Given the description of an element on the screen output the (x, y) to click on. 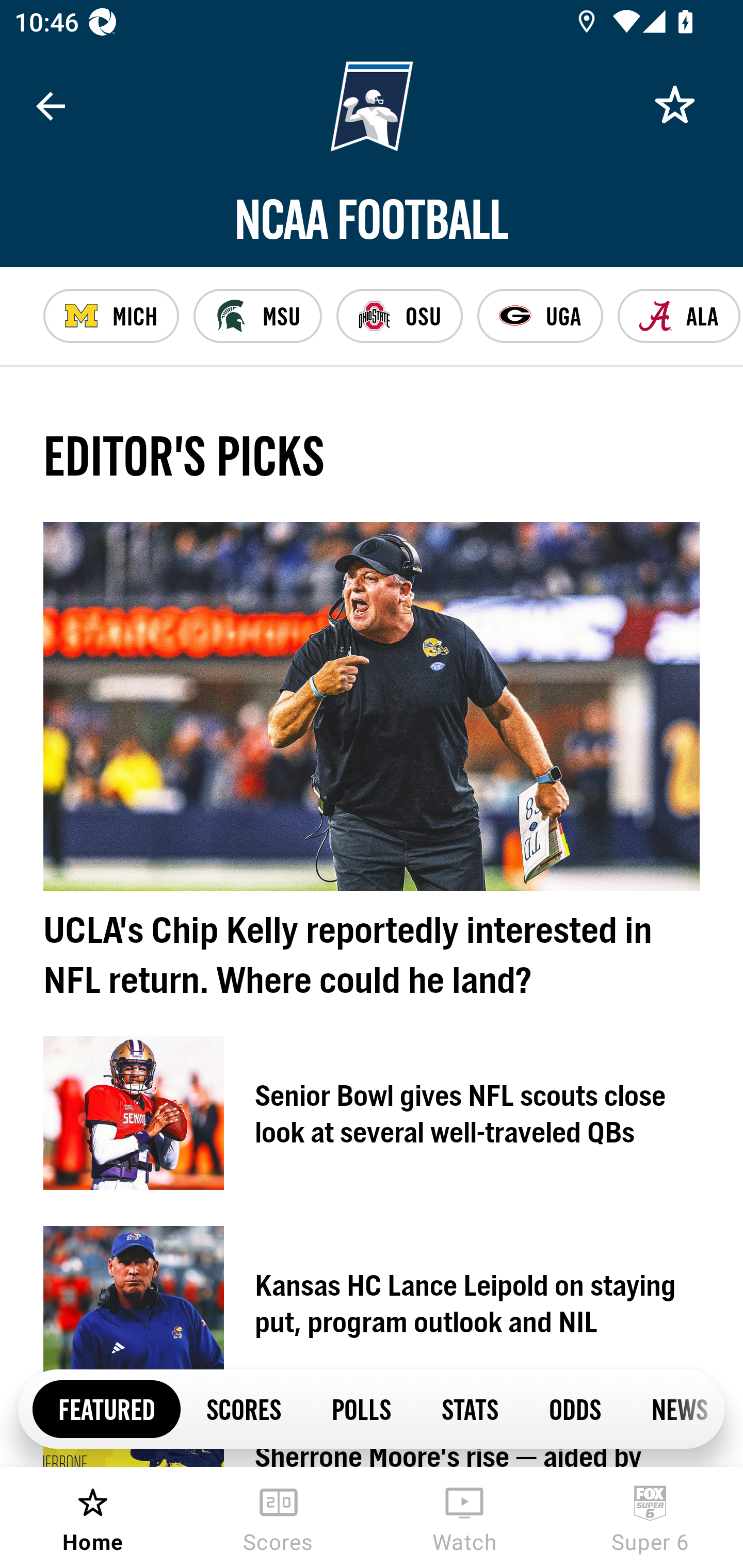
Navigate up (50, 106)
MICH (111, 315)
MSU (257, 315)
OSU (399, 315)
UGA (540, 315)
ALA (678, 315)
SCORES (243, 1408)
POLLS (361, 1408)
STATS (469, 1408)
ODDS (574, 1408)
NEWS (675, 1408)
Scores (278, 1517)
Watch (464, 1517)
Super 6 (650, 1517)
